Given the description of an element on the screen output the (x, y) to click on. 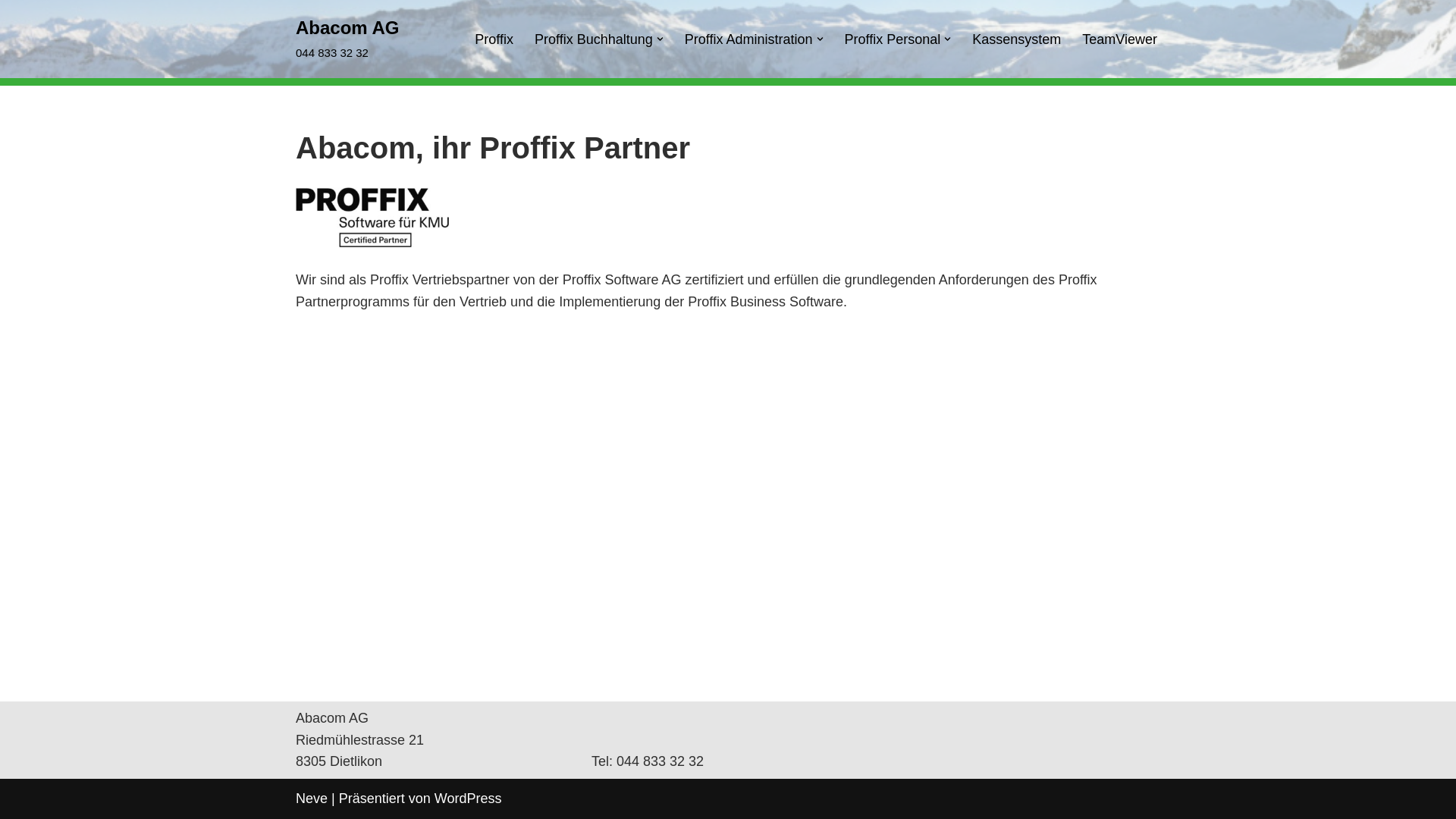
Proffix Administration Element type: text (748, 39)
Kassensystem Element type: text (1016, 39)
WordPress Element type: text (468, 798)
Proffix Element type: text (493, 39)
Neve Element type: text (311, 798)
Proffix Personal Element type: text (892, 39)
Proffix Buchhaltung Element type: text (593, 39)
Abacom AG
044 833 32 32 Element type: text (346, 38)
Zum Inhalt springen Element type: text (11, 31)
TeamViewer Element type: text (1119, 39)
